Given the description of an element on the screen output the (x, y) to click on. 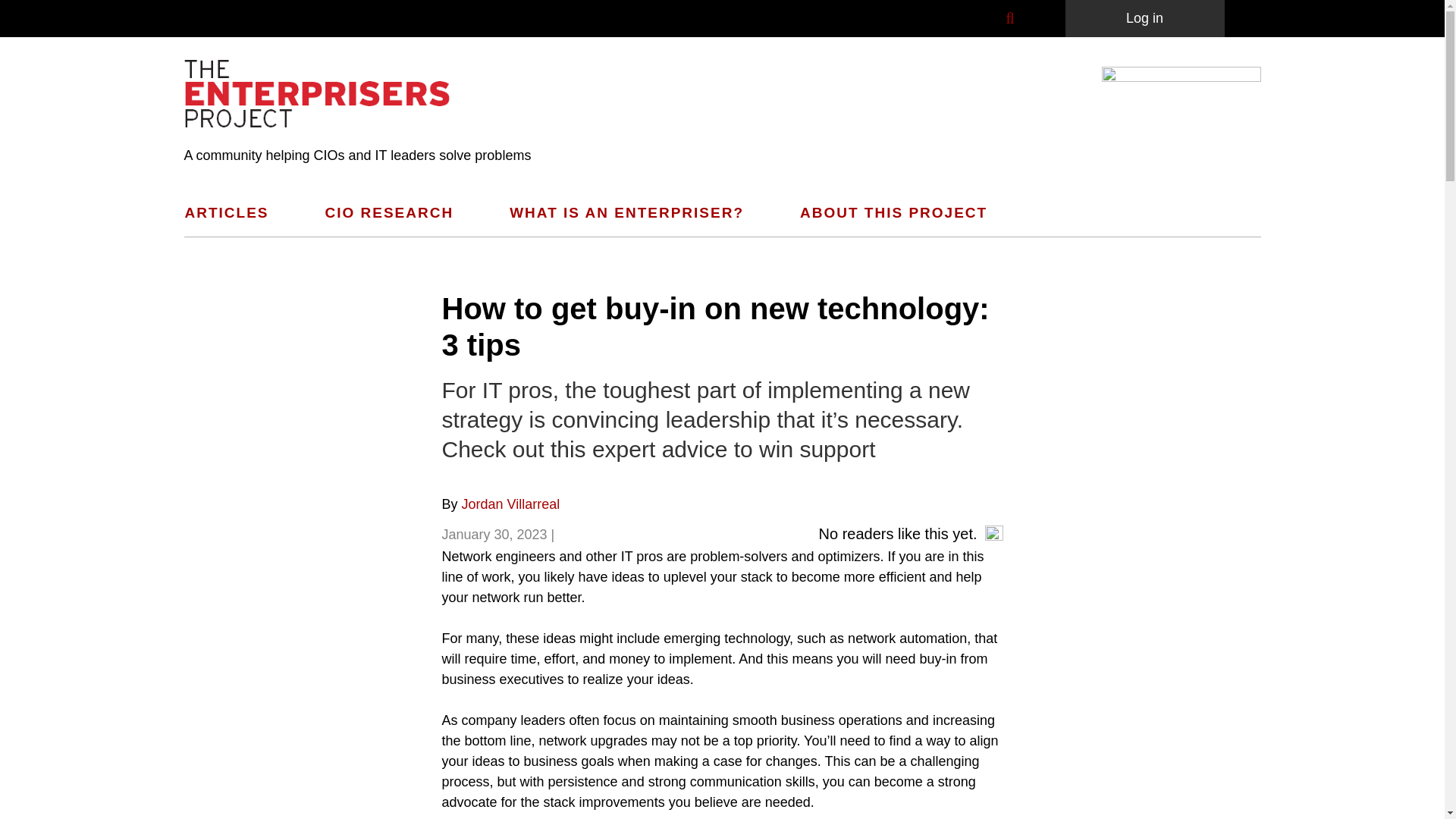
Log in (1144, 18)
WHAT IS AN ENTERPRISER? (635, 213)
CIO RESEARCH (397, 213)
Search (1420, 63)
ARTICLES (236, 213)
Jordan Villarreal (510, 503)
ABOUT THIS PROJECT (902, 213)
